Given the description of an element on the screen output the (x, y) to click on. 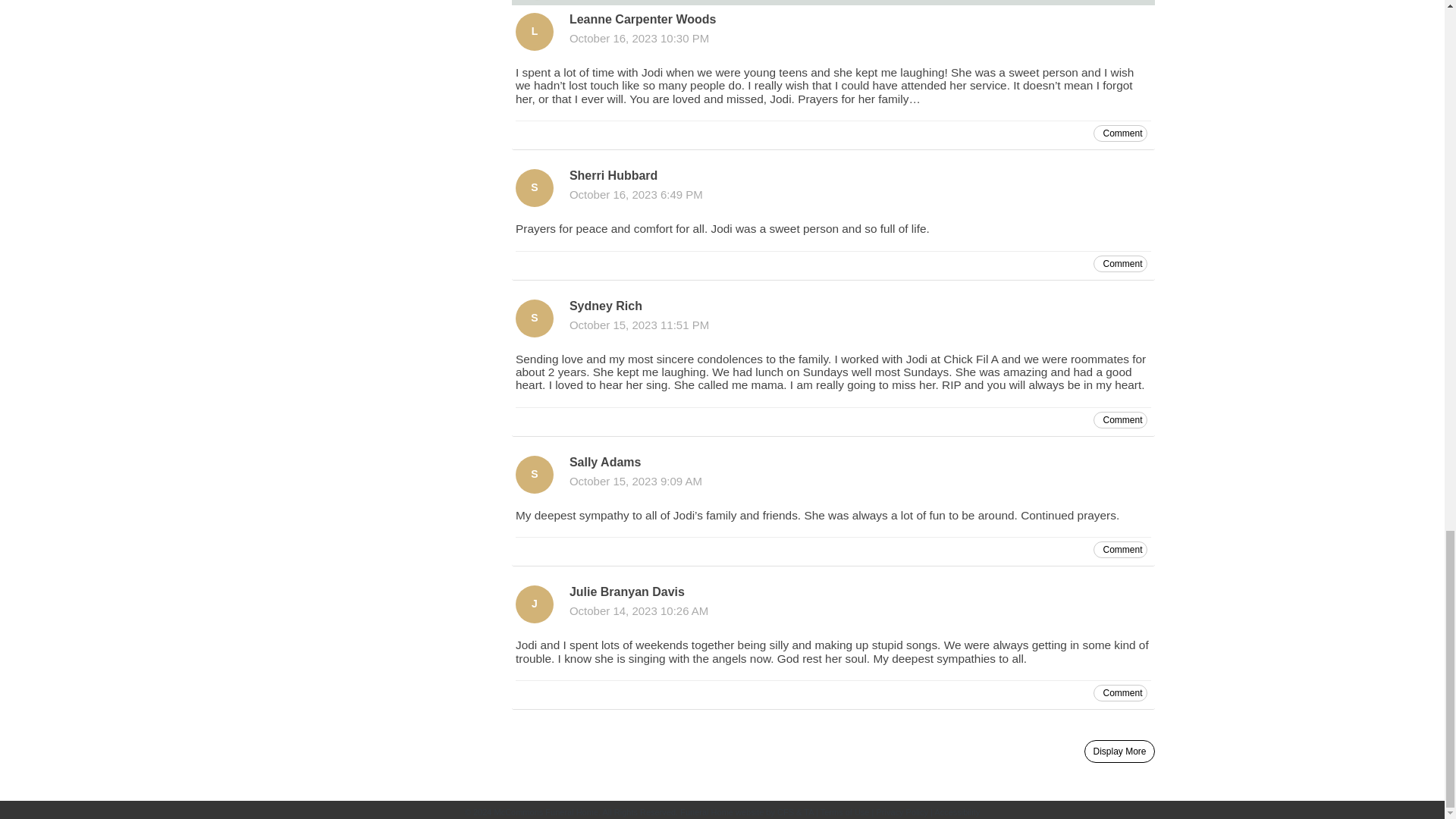
  Comment (1120, 549)
Sydney Rich (534, 318)
  Comment (1120, 133)
  Comment (1120, 692)
Sally Adams (534, 474)
Julie Branyan Davis (534, 604)
Leanne Carpenter Woods (534, 31)
  Comment (1120, 263)
Sherri Hubbard (534, 187)
  Comment (1120, 419)
